Given the description of an element on the screen output the (x, y) to click on. 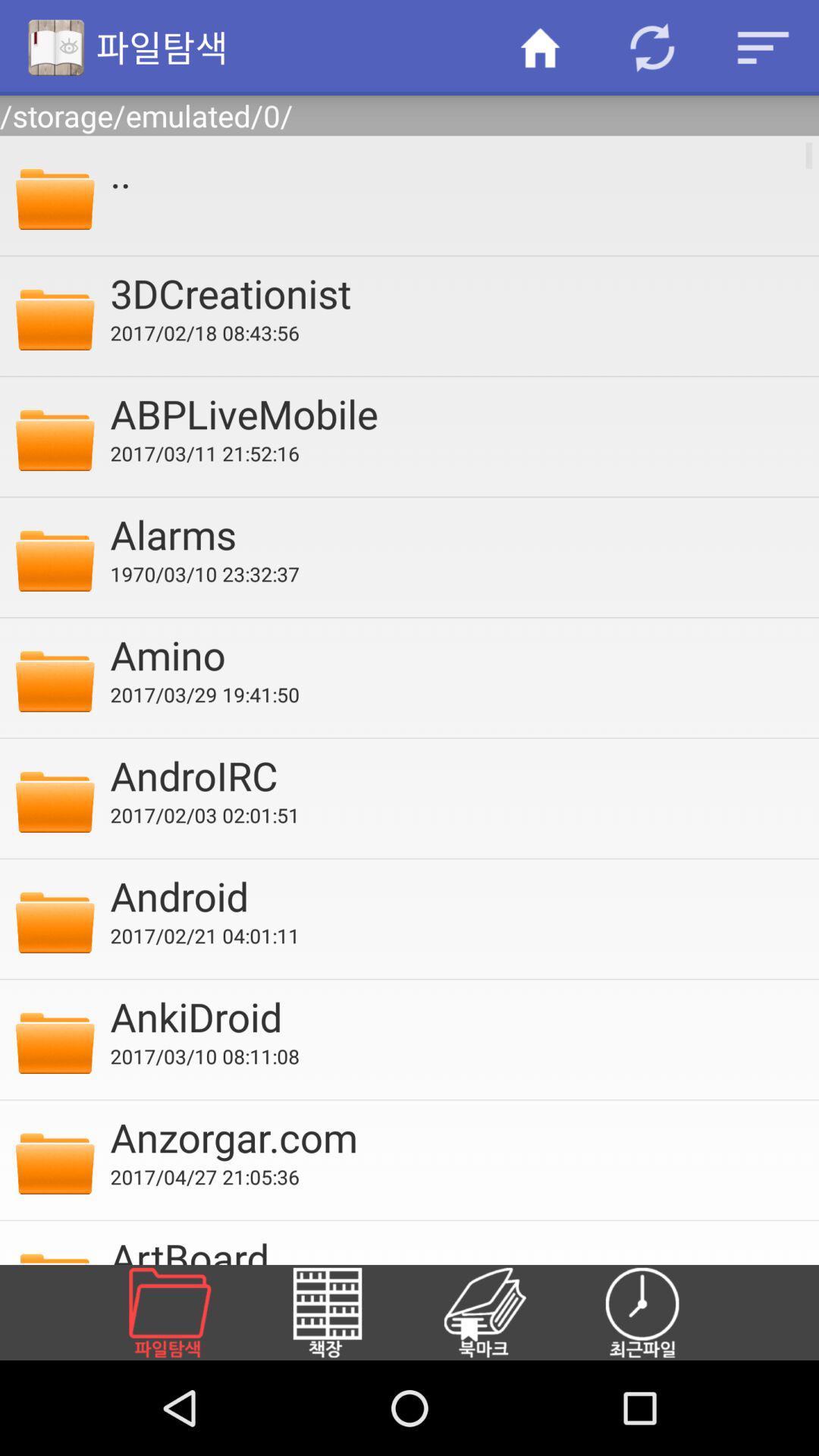
choose icon above the 2017 02 03 icon (454, 775)
